Given the description of an element on the screen output the (x, y) to click on. 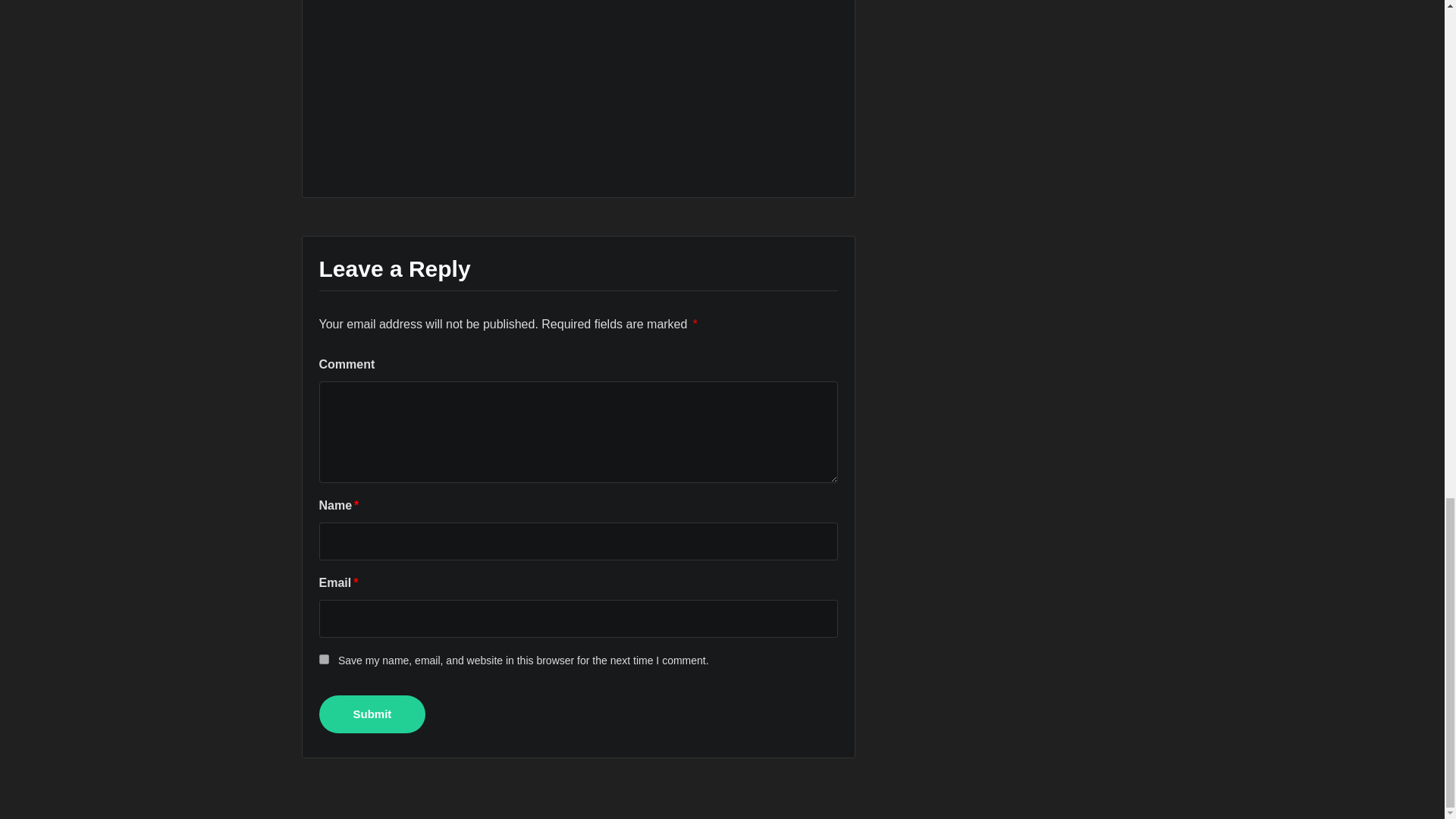
Submit (371, 714)
Submit (371, 714)
yes (323, 659)
